Given the description of an element on the screen output the (x, y) to click on. 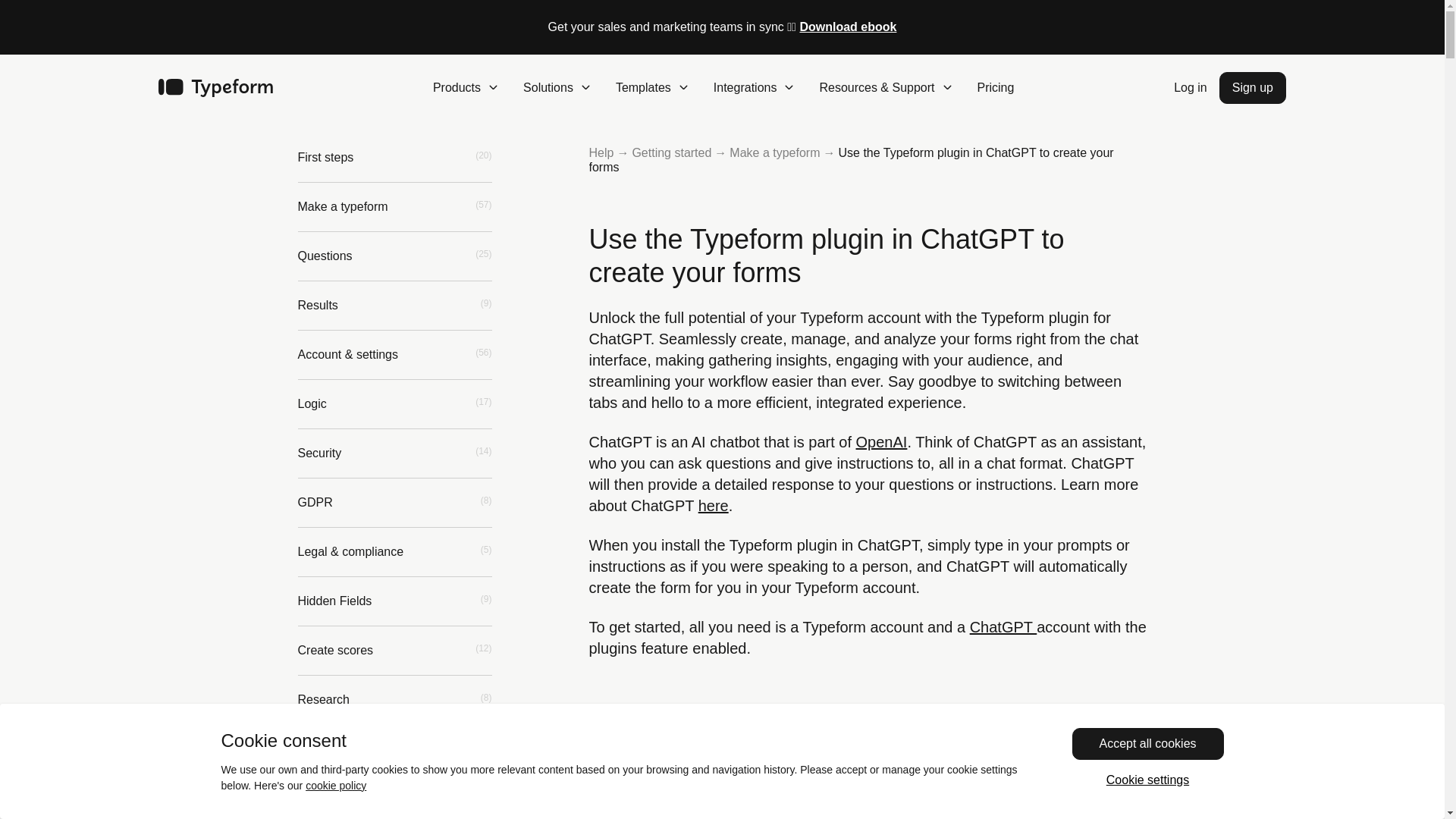
Cookie settings (1147, 779)
Products (465, 87)
Download ebook (847, 26)
cookie policy (335, 785)
Go to typeform.com (215, 87)
Solutions (556, 87)
Accept all cookies (1147, 744)
Templates (652, 87)
